Given the description of an element on the screen output the (x, y) to click on. 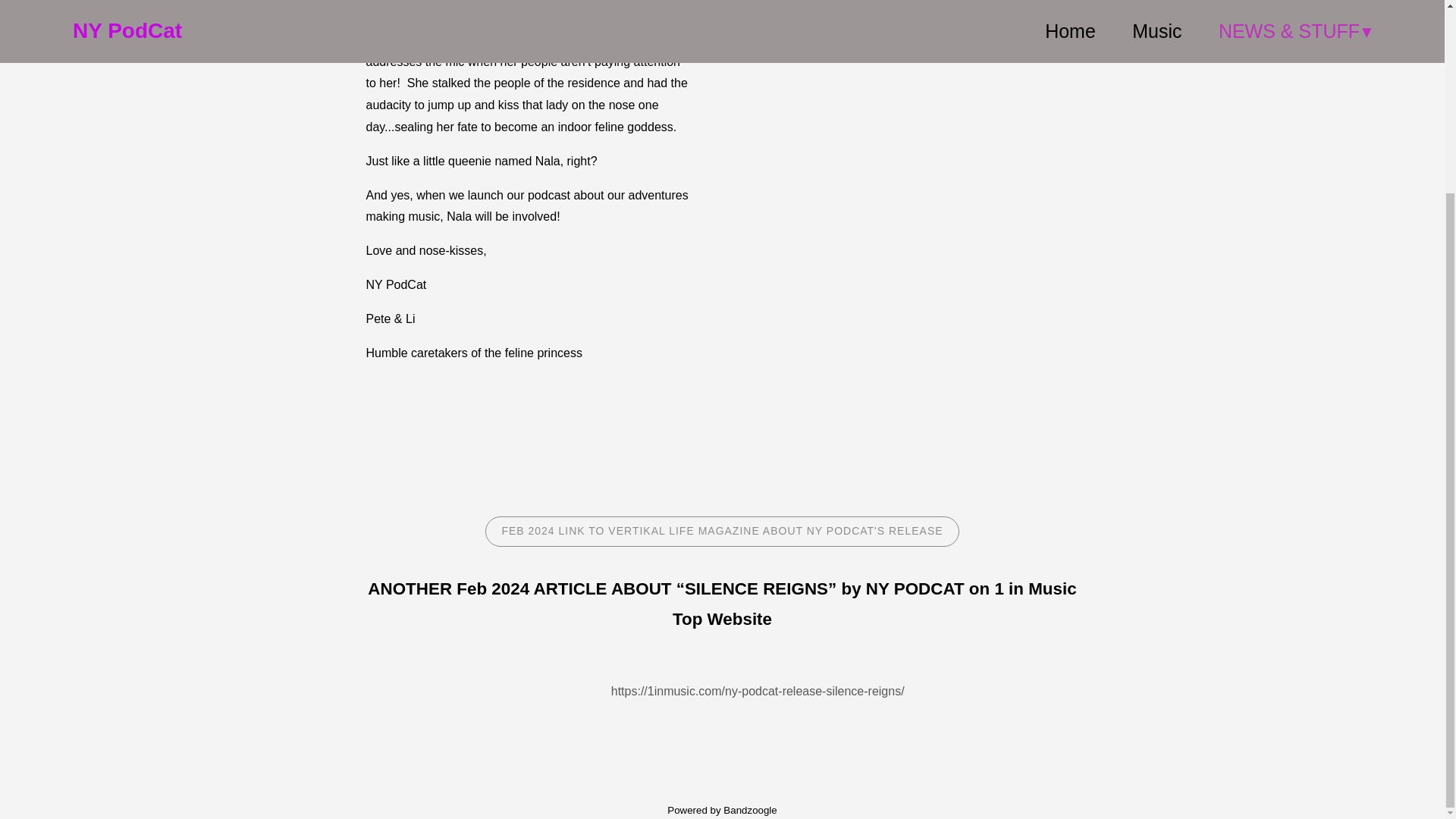
Powered by Bandzoogle (721, 809)
Powered by Bandzoogle (721, 809)
